Given the description of an element on the screen output the (x, y) to click on. 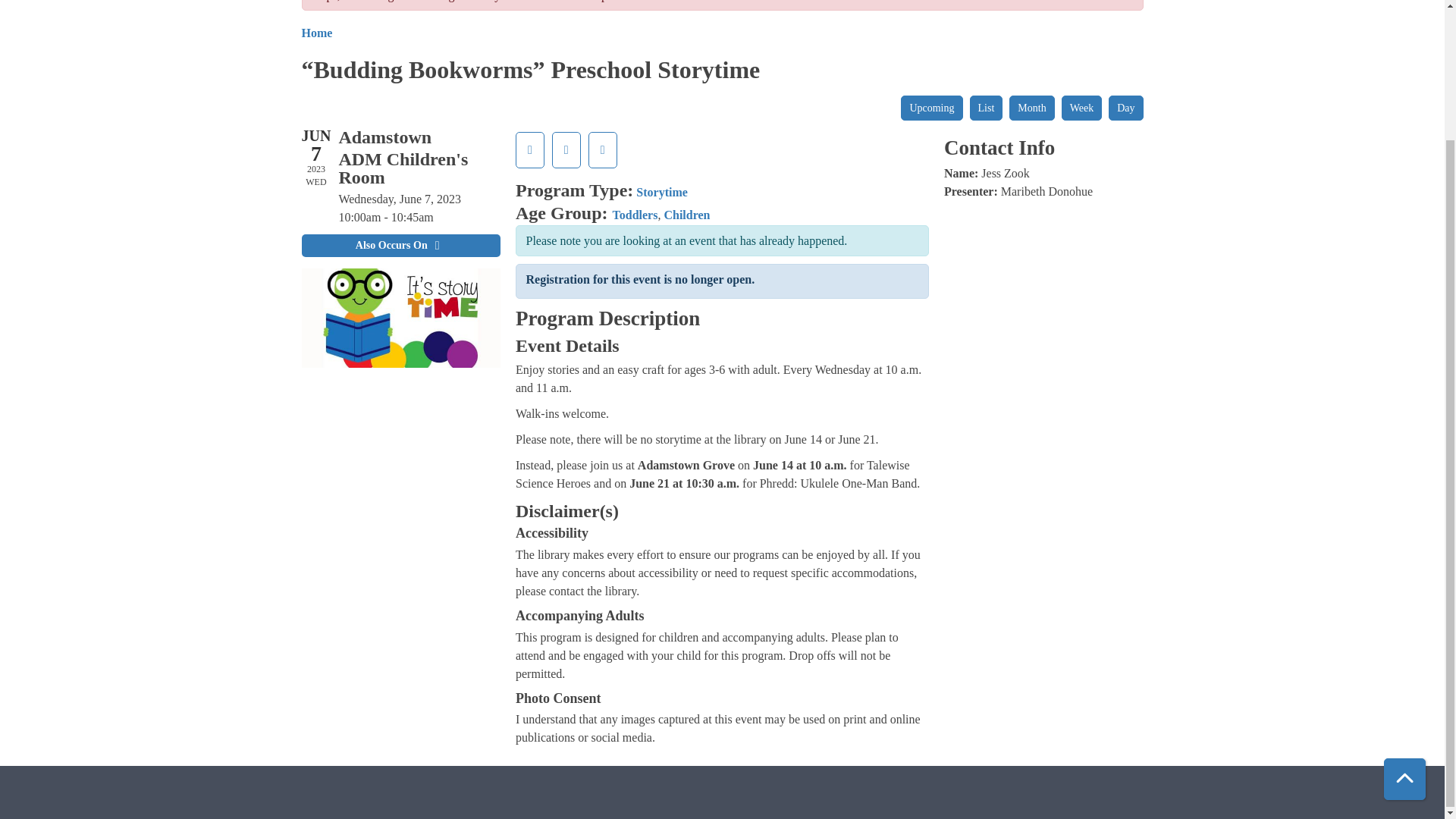
Storytime (661, 192)
Toddlers (635, 214)
List (986, 107)
Day (1125, 107)
Children (686, 214)
Week (1081, 107)
Upcoming (931, 107)
Month (1031, 107)
Back To Top (1404, 620)
Home (317, 32)
